Given the description of an element on the screen output the (x, y) to click on. 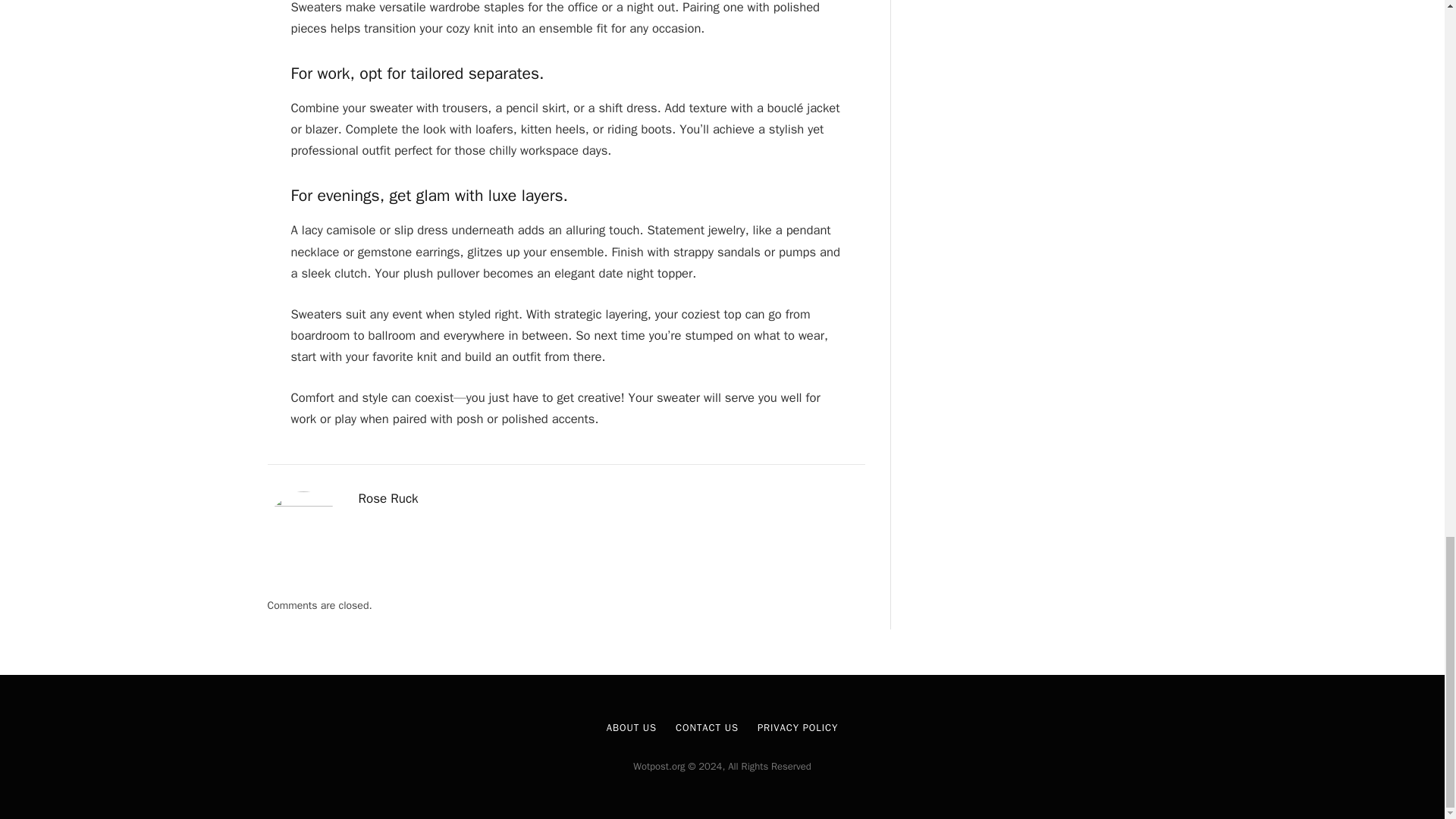
Rose Ruck (387, 498)
Posts by Rose Ruck (387, 498)
